Given the description of an element on the screen output the (x, y) to click on. 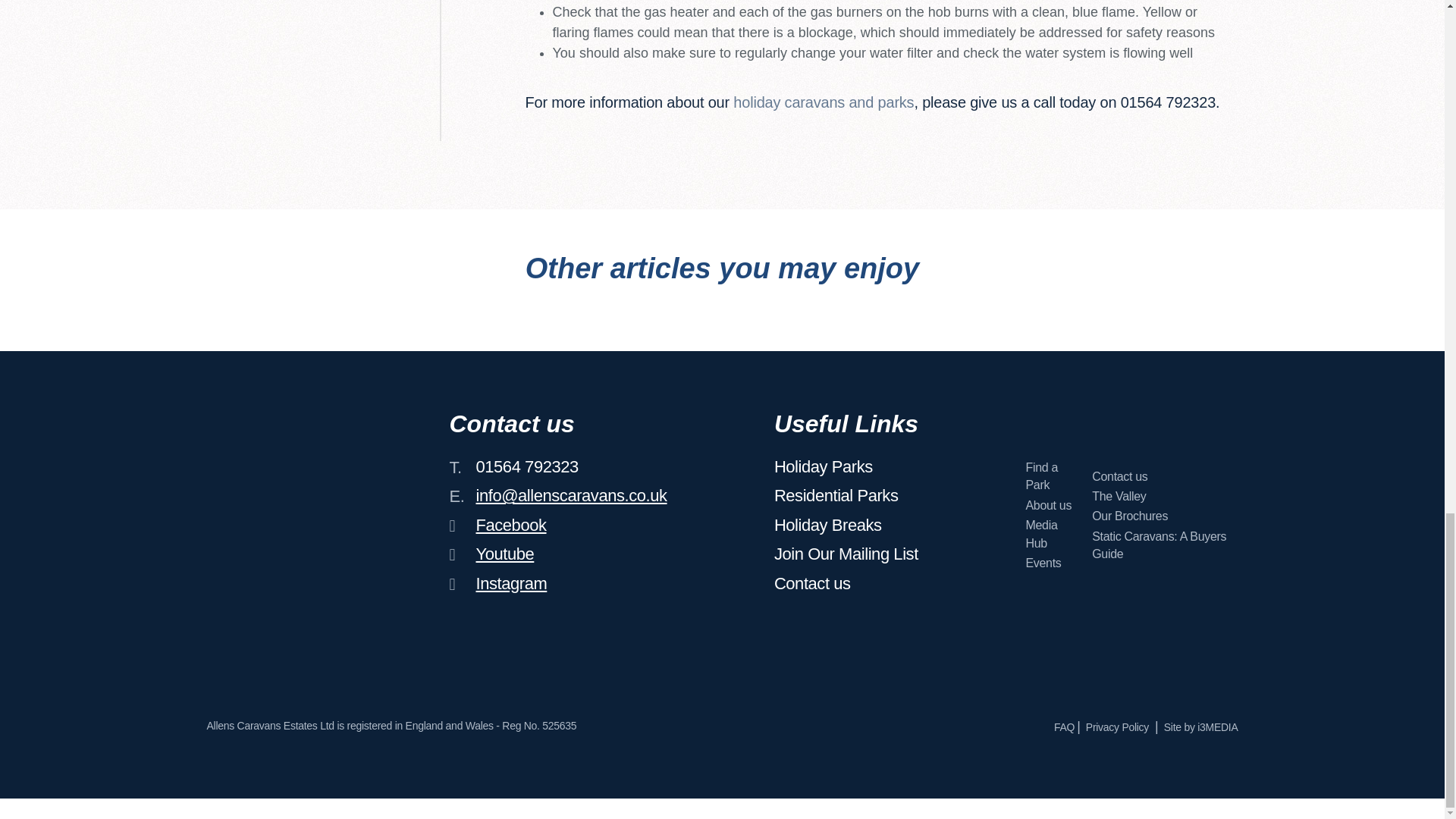
holiday caravans and parks (823, 102)
